Given the description of an element on the screen output the (x, y) to click on. 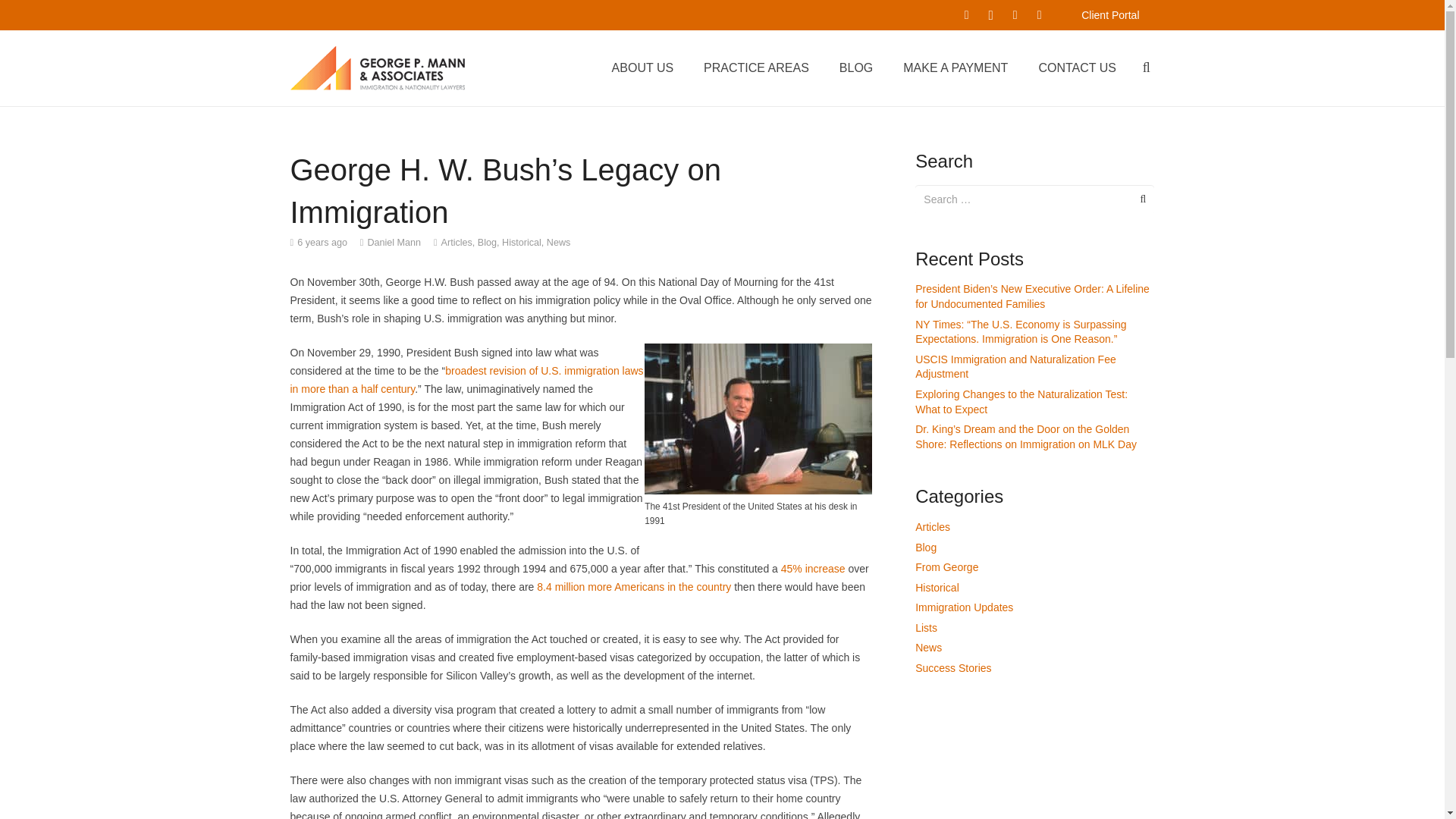
Facebook (966, 15)
5 December 2018 at 17:45:07 -05:00 (317, 242)
CONTACT US (1077, 67)
Client Portal (1109, 15)
Search (1133, 199)
Blog (486, 242)
Lists (926, 627)
BLOG (856, 67)
Exploring Changes to the Naturalization Test: What to Expect (1020, 401)
Blog (925, 547)
YouTube (1015, 15)
PRACTICE AREAS (756, 67)
Historical (937, 587)
Articles (932, 526)
Daniel Mann (393, 242)
